Given the description of an element on the screen output the (x, y) to click on. 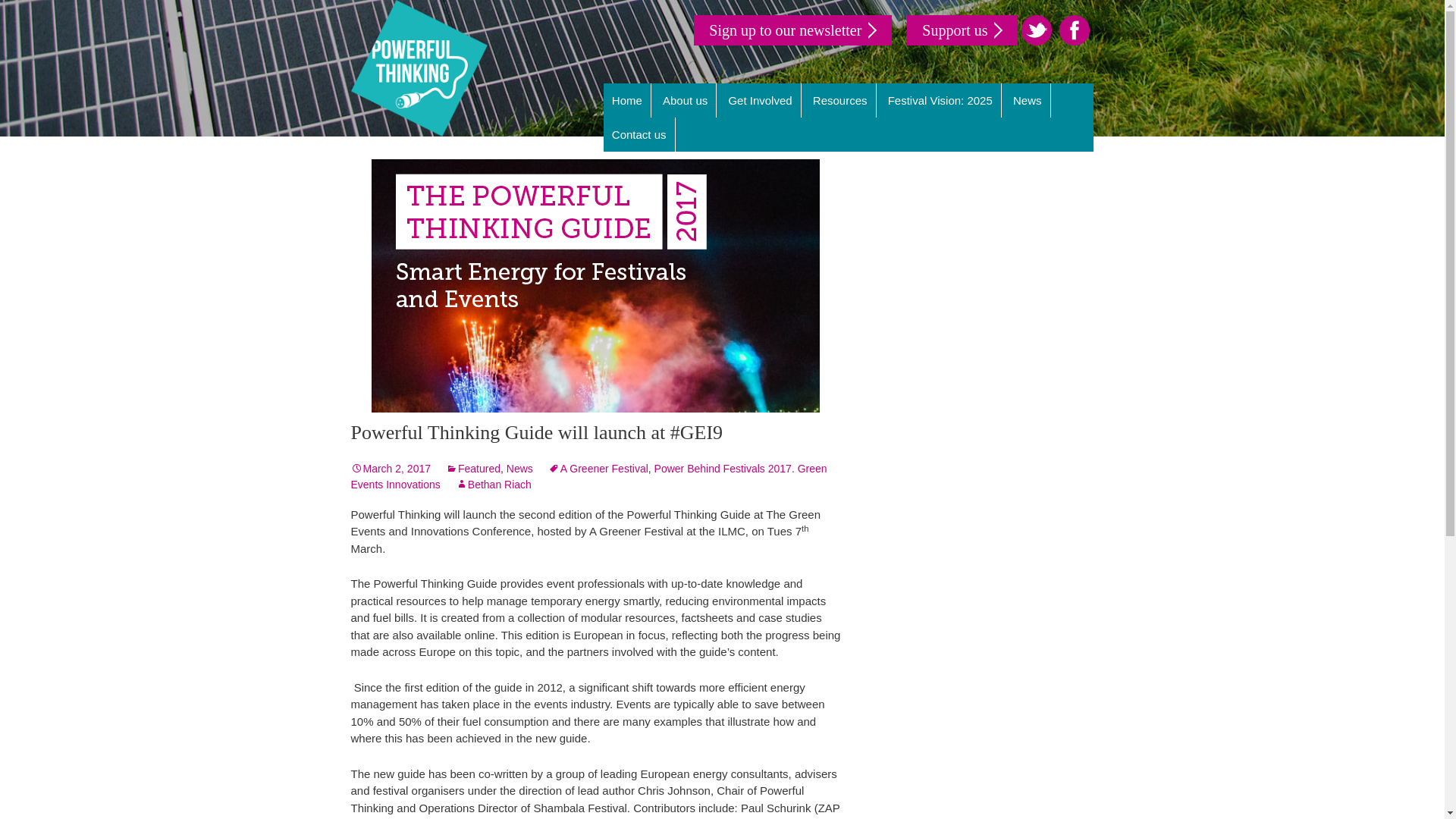
Featured (472, 468)
Resources (840, 100)
Contact us (639, 134)
A Greener Festival (597, 468)
Get Involved (759, 100)
About us (684, 100)
Festival Vision: 2025 (940, 100)
Power Behind Festivals 2017. Green Events Innovations (588, 476)
Home (627, 100)
